Given the description of an element on the screen output the (x, y) to click on. 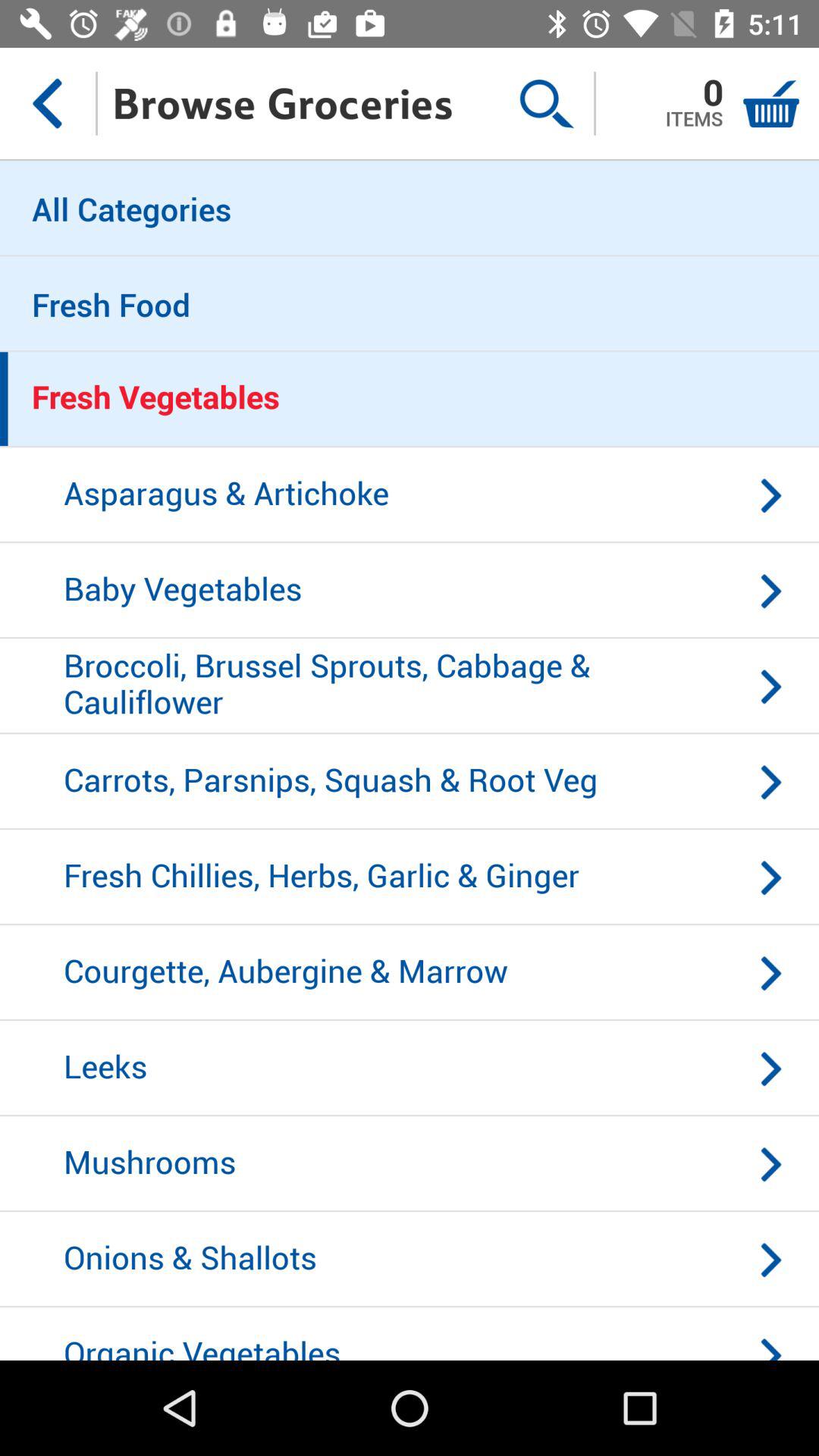
tap the item above baby vegetables icon (409, 495)
